Given the description of an element on the screen output the (x, y) to click on. 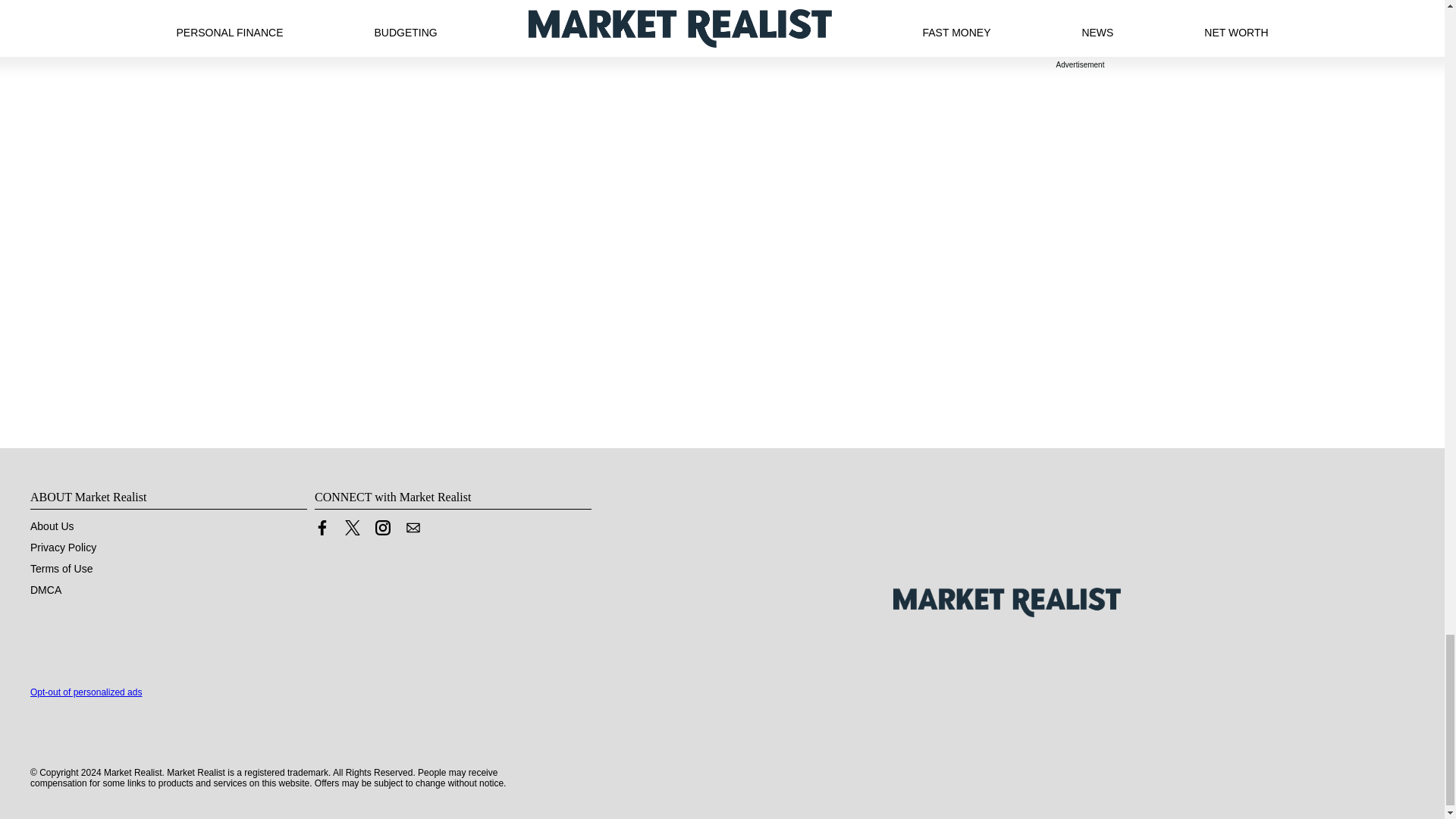
About Us (52, 526)
DMCA (45, 589)
DMCA (45, 589)
Terms of Use (61, 568)
Link to Facebook (322, 527)
Link to Instagram (382, 531)
Link to Instagram (382, 527)
Terms of Use (61, 568)
Link to X (352, 527)
Link to X (352, 531)
Privacy Policy (63, 547)
Privacy Policy (63, 547)
Opt-out of personalized ads (85, 692)
Contact us by Email (413, 531)
Contact us by Email (413, 527)
